Given the description of an element on the screen output the (x, y) to click on. 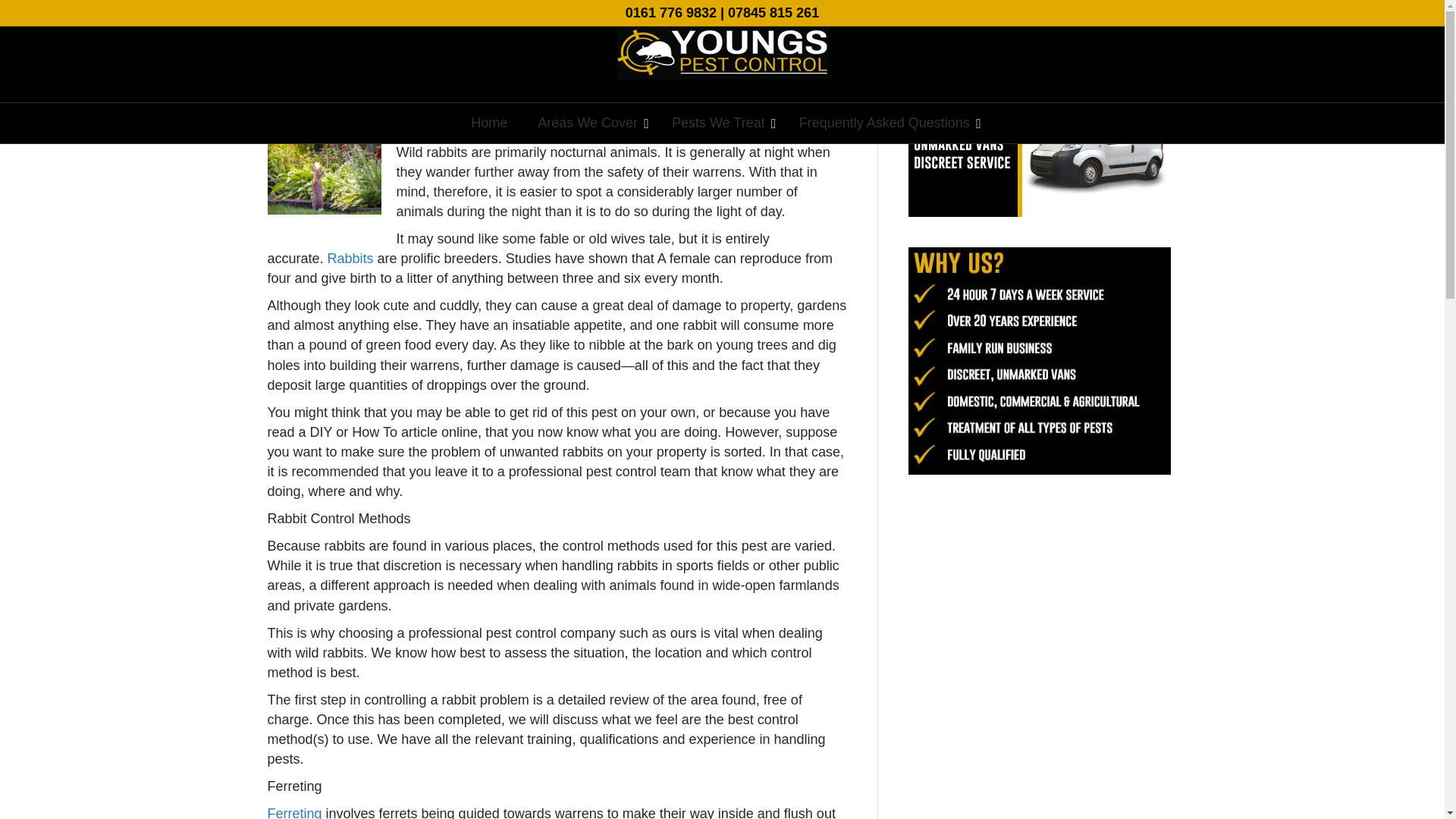
07845 815 261 (773, 12)
0161 776 9832 (671, 12)
Frequently Asked Questions (886, 123)
Home (488, 123)
Areas We Cover (589, 123)
Pests We Treat (720, 123)
Type and press Enter to search. (1042, 43)
